Given the description of an element on the screen output the (x, y) to click on. 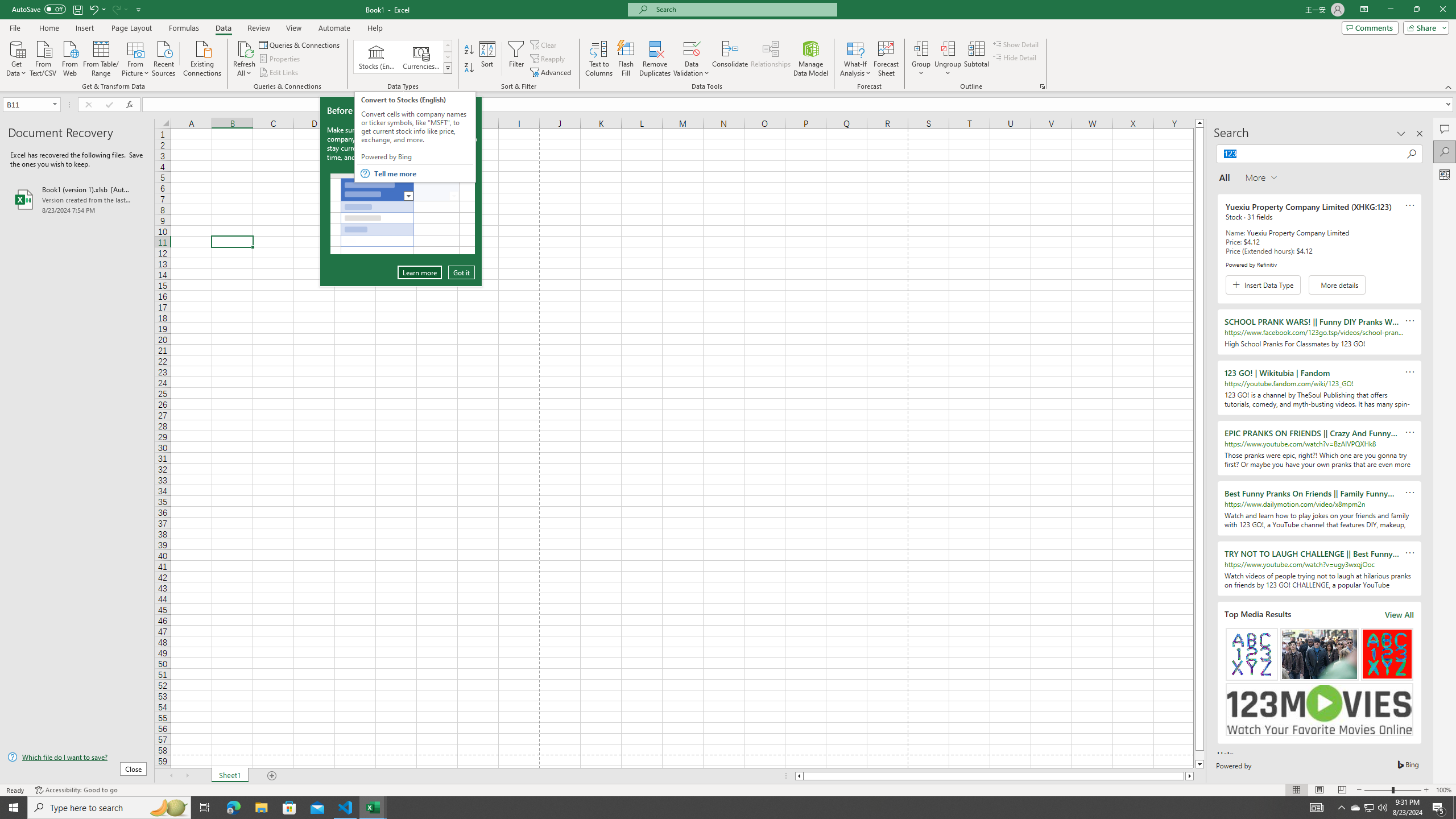
Cursor Converts Cells to Data Type (402, 213)
Search highlights icon opens search home window (1355, 807)
